Given the description of an element on the screen output the (x, y) to click on. 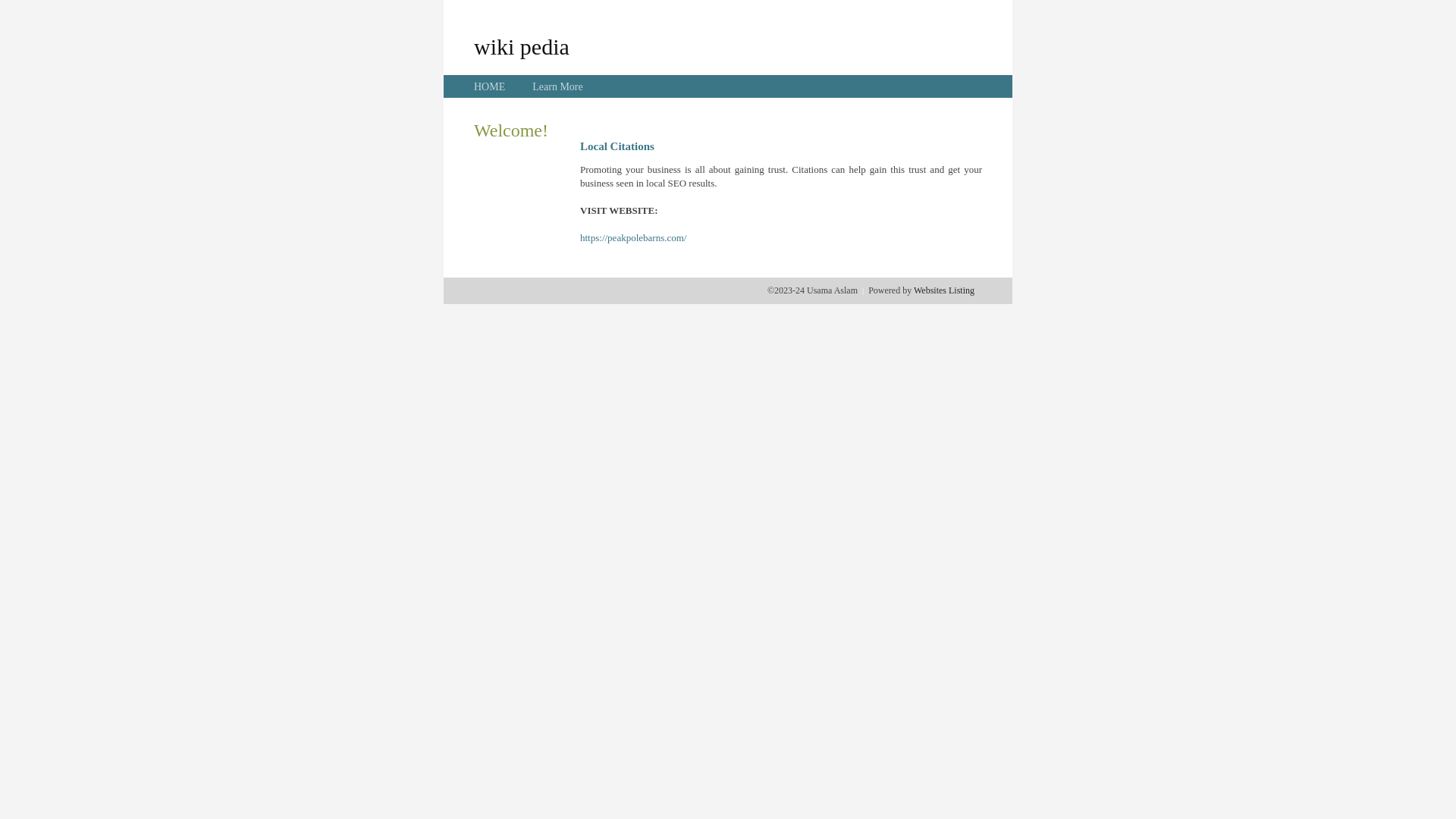
HOME Element type: text (489, 86)
https://peakpolebarns.com/ Element type: text (633, 237)
Learn More Element type: text (557, 86)
Websites Listing Element type: text (943, 290)
wiki pedia Element type: text (521, 46)
